Given the description of an element on the screen output the (x, y) to click on. 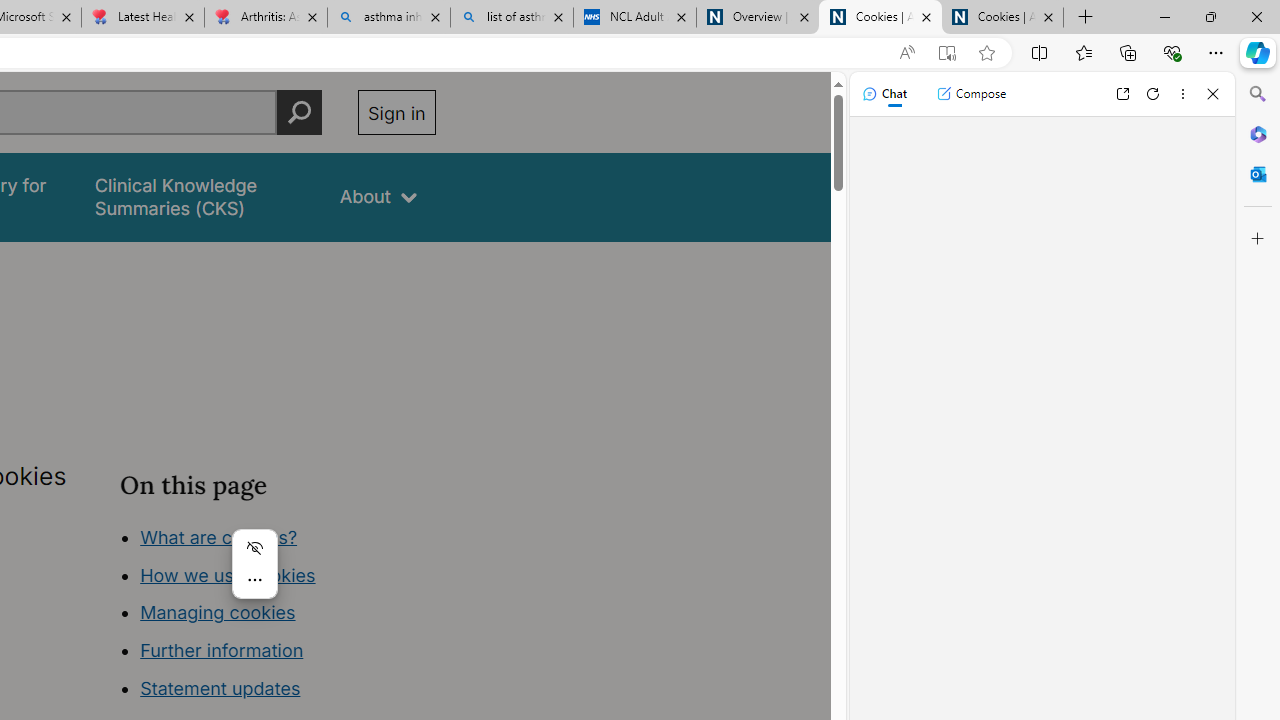
What are cookies? (218, 536)
